Given the description of an element on the screen output the (x, y) to click on. 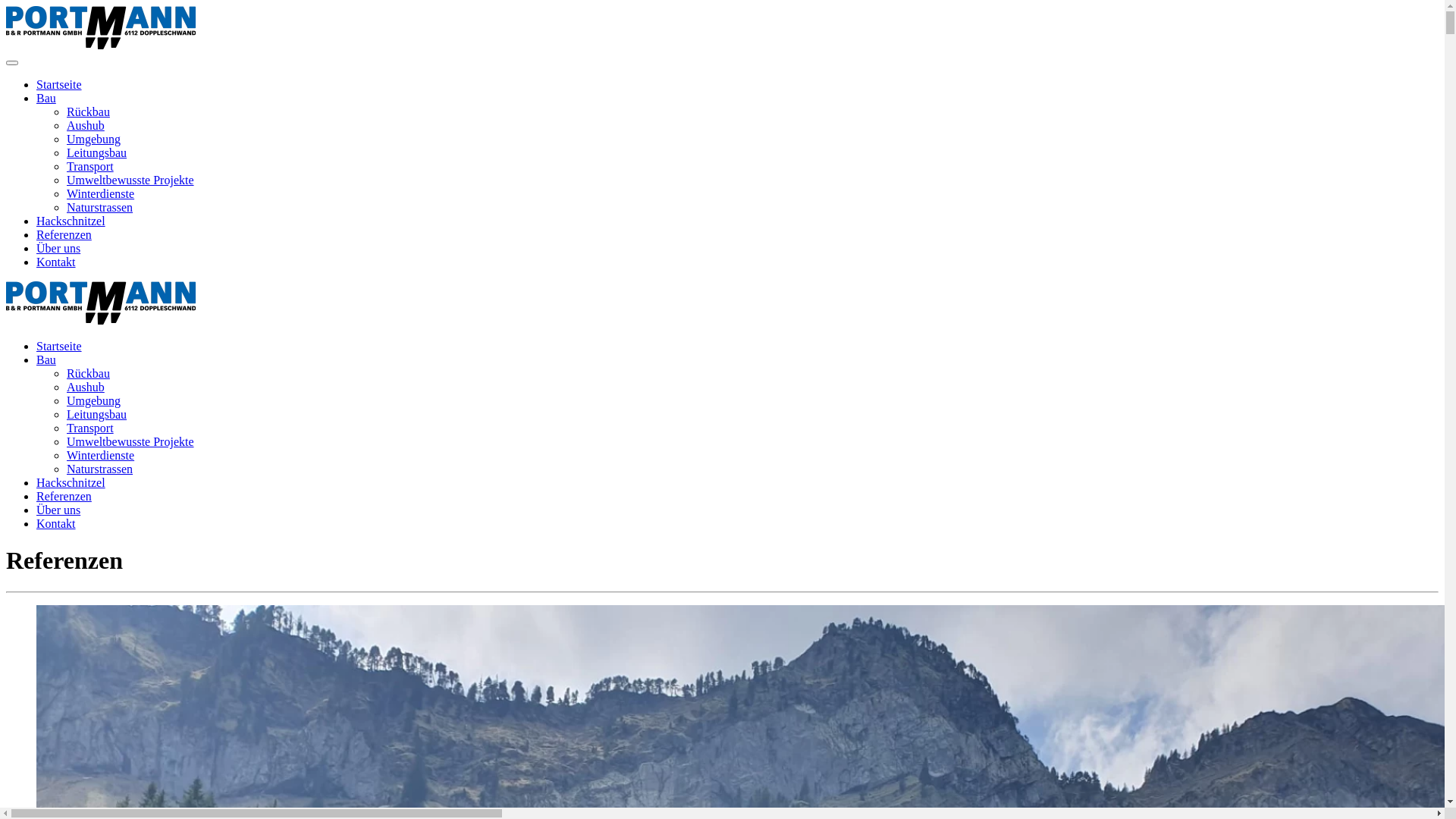
Umweltbewusste Projekte Element type: text (130, 441)
Umgebung Element type: text (93, 138)
Winterdienste Element type: text (100, 193)
Leitungsbau Element type: text (96, 413)
Naturstrassen Element type: text (99, 468)
Startseite Element type: text (58, 345)
Umgebung Element type: text (93, 400)
Bau Element type: text (46, 359)
Aushub Element type: text (85, 125)
Leitungsbau Element type: text (96, 152)
Kontakt Element type: text (55, 523)
Transport Element type: text (89, 427)
Winterdienste Element type: text (100, 454)
Hackschnitzel Element type: text (70, 482)
Hackschnitzel Element type: text (70, 220)
Referenzen Element type: text (63, 234)
Startseite Element type: text (58, 84)
Bau Element type: text (46, 97)
Umweltbewusste Projekte Element type: text (130, 179)
Naturstrassen Element type: text (99, 206)
Kontakt Element type: text (55, 261)
Aushub Element type: text (85, 386)
Transport Element type: text (89, 166)
Referenzen Element type: text (63, 495)
